Given the description of an element on the screen output the (x, y) to click on. 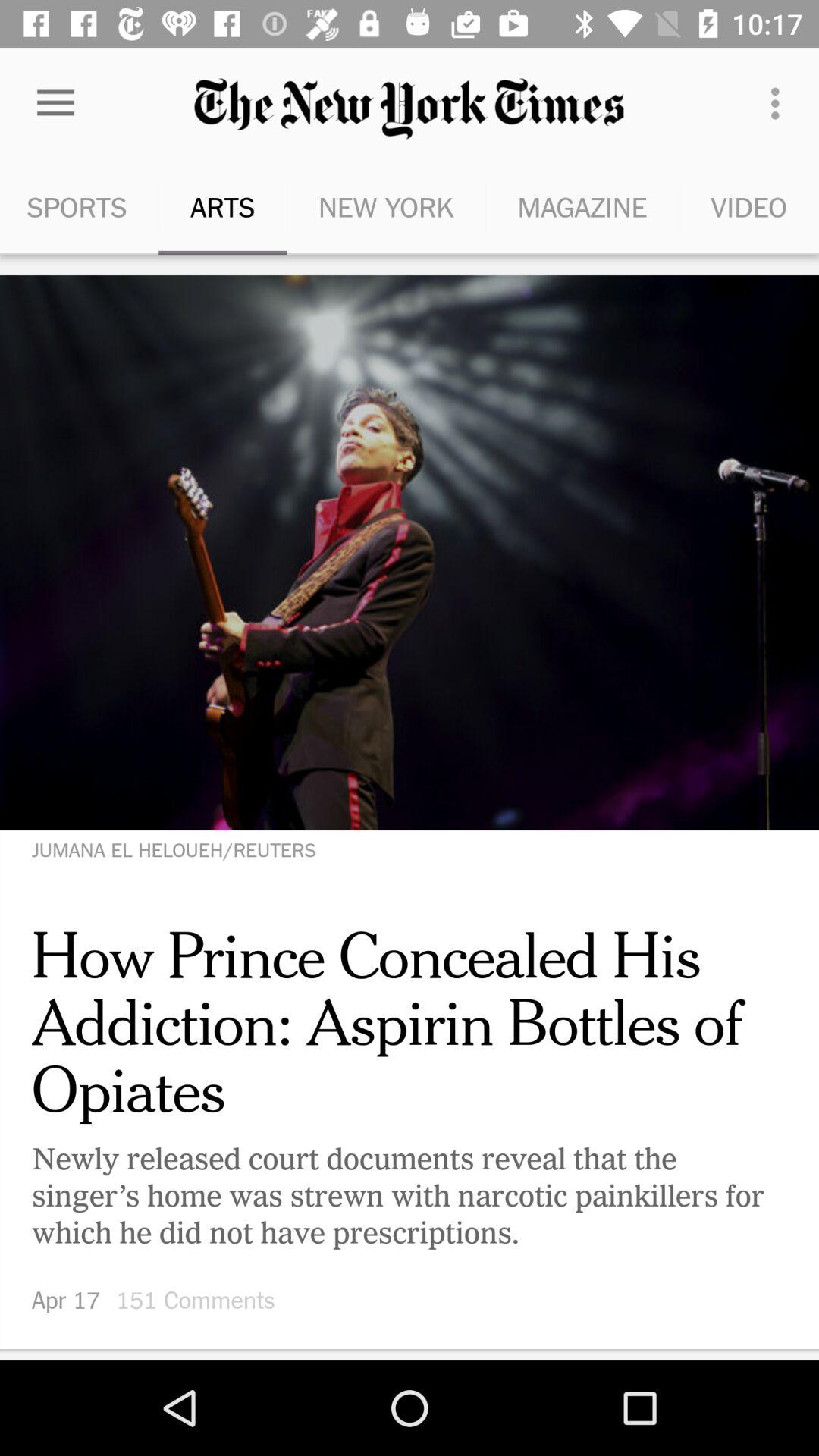
swipe to the new york (385, 206)
